Given the description of an element on the screen output the (x, y) to click on. 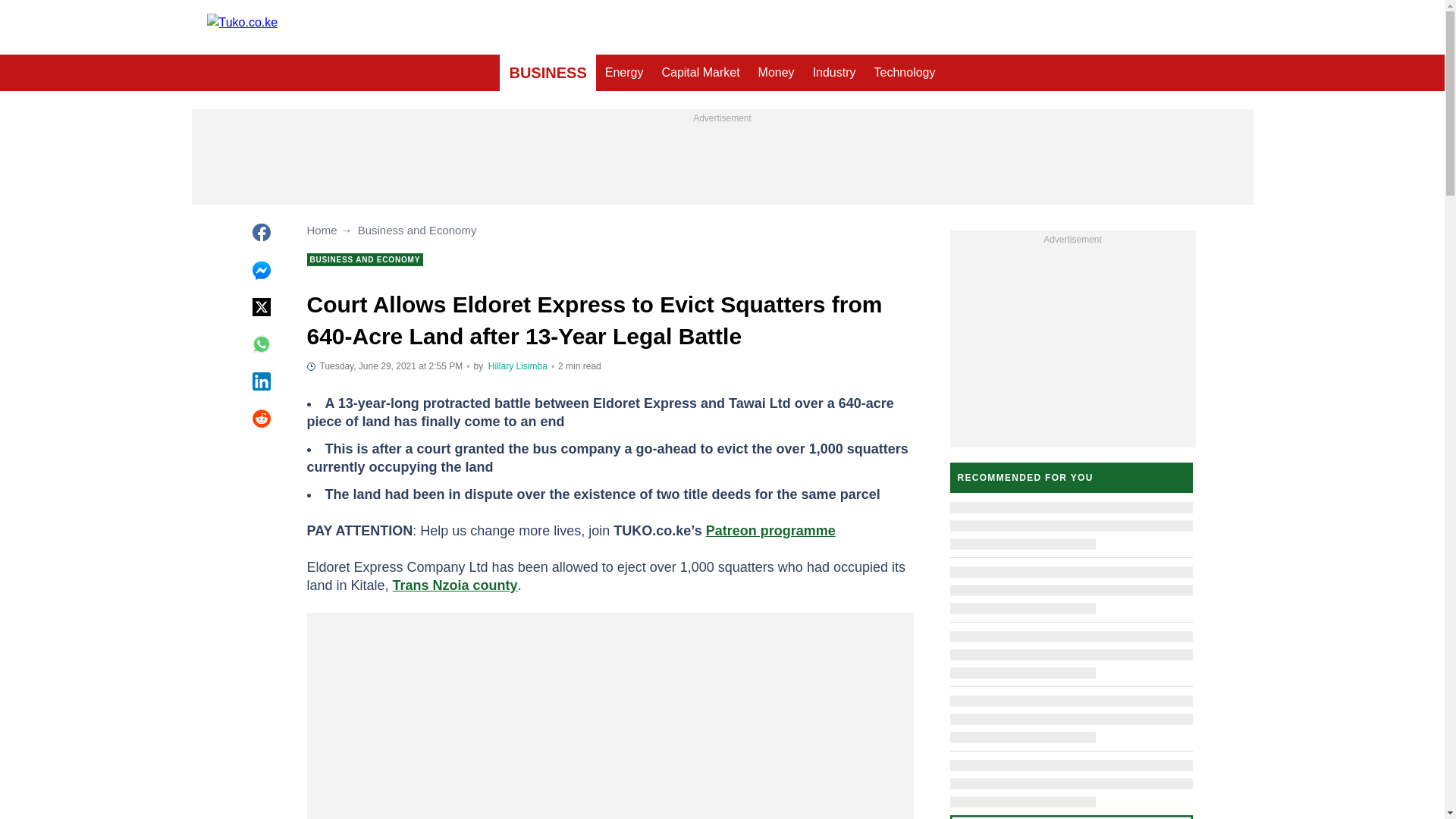
Money (776, 72)
Capital Market (700, 72)
Industry (833, 72)
Energy (623, 72)
Author page (517, 366)
Technology (904, 72)
BUSINESS (547, 72)
